Given the description of an element on the screen output the (x, y) to click on. 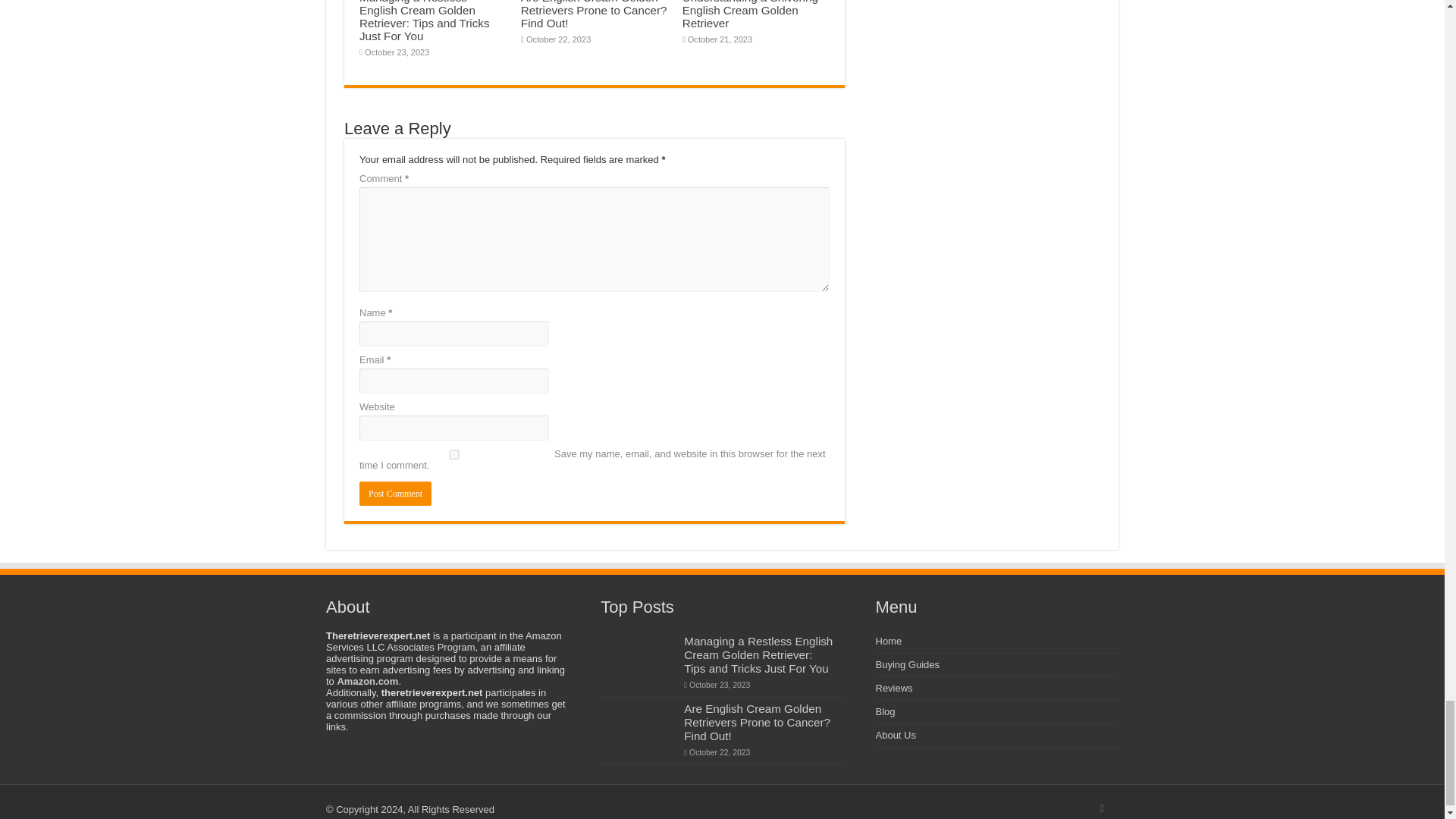
Post Comment (394, 493)
Understanding a Shivering English Cream Golden Retriever (750, 14)
Rss (1102, 809)
yes (453, 454)
Post Comment (394, 493)
